Given the description of an element on the screen output the (x, y) to click on. 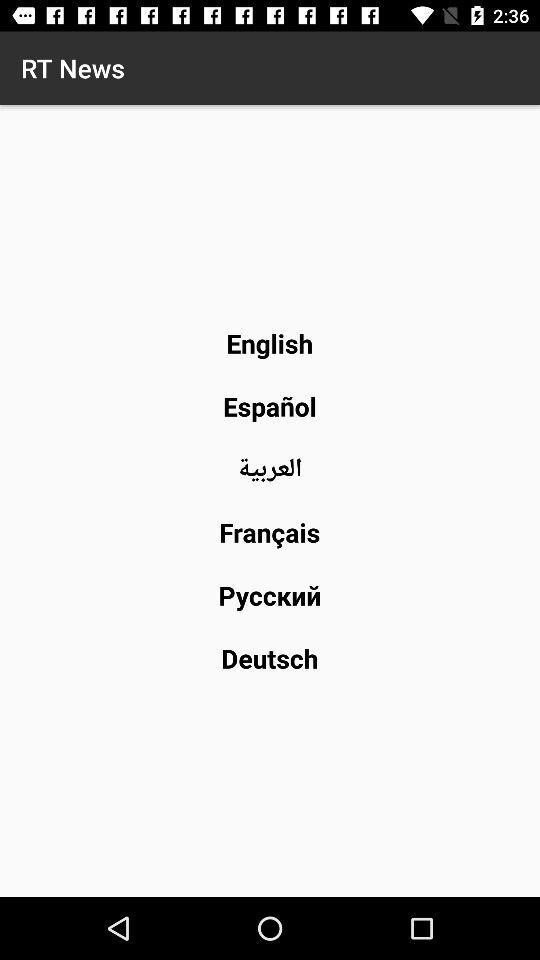
swipe to the english (269, 343)
